Given the description of an element on the screen output the (x, y) to click on. 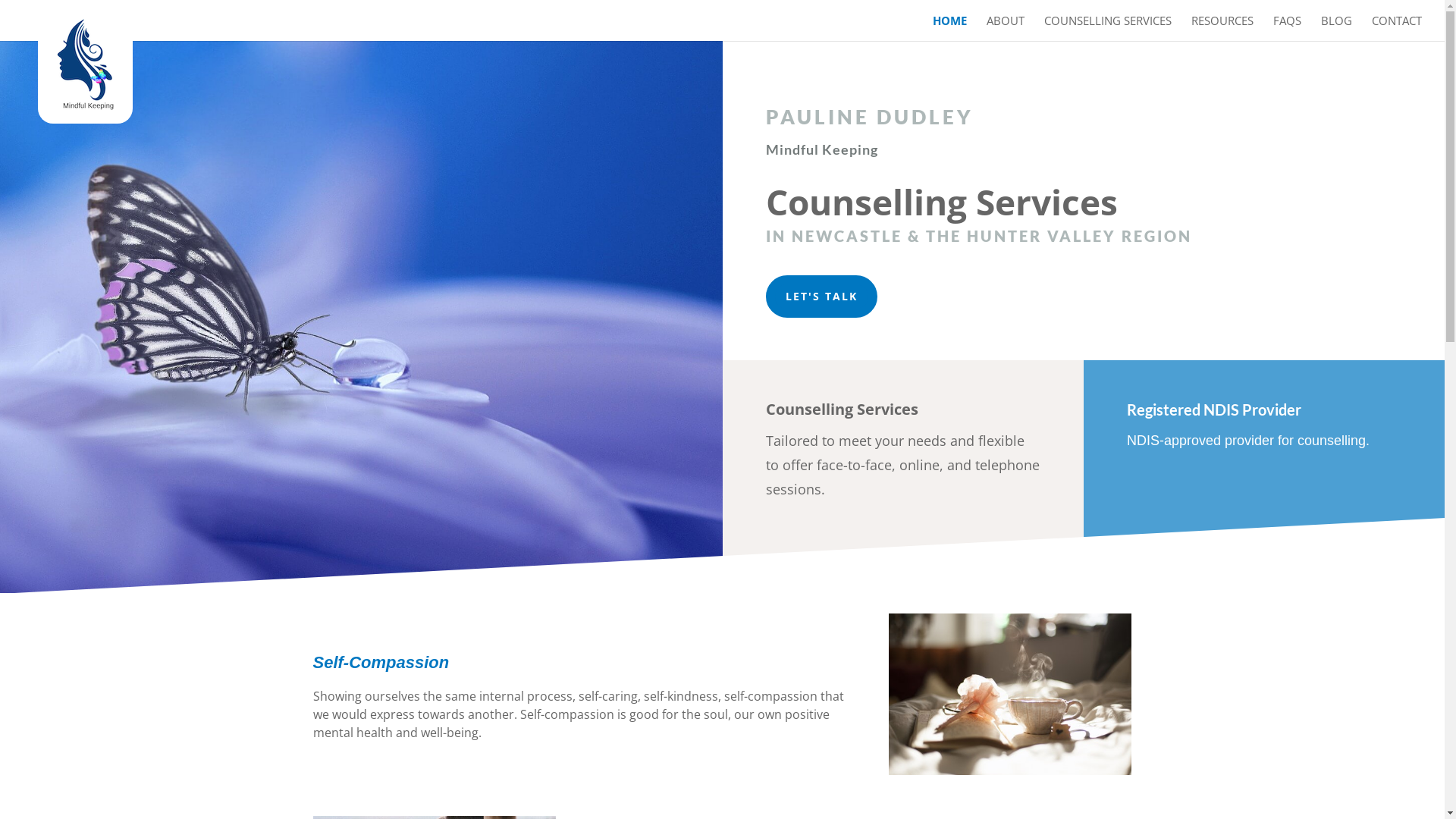
RESOURCES Element type: text (1222, 27)
FAQS Element type: text (1287, 27)
HOME Element type: text (949, 27)
COUNSELLING SERVICES Element type: text (1107, 27)
BLOG Element type: text (1336, 27)
CONTACT Element type: text (1396, 27)
ABOUT Element type: text (1005, 27)
LET'S TALK Element type: text (821, 296)
